Given the description of an element on the screen output the (x, y) to click on. 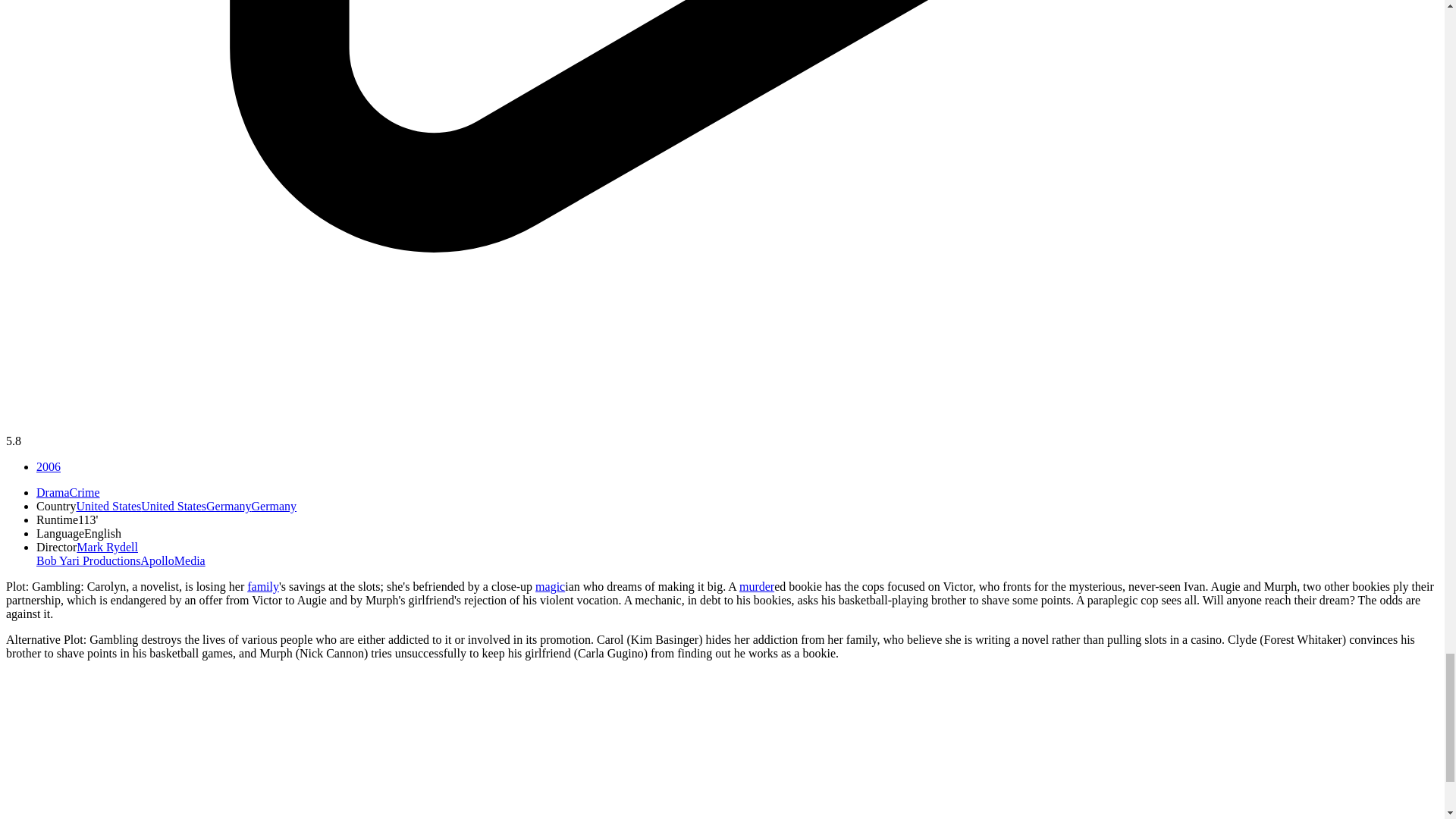
Mark Rydell (107, 546)
ApolloMedia (172, 560)
2006 (48, 466)
Bob Yari Productions (87, 560)
United States (140, 505)
Germany (251, 505)
